Given the description of an element on the screen output the (x, y) to click on. 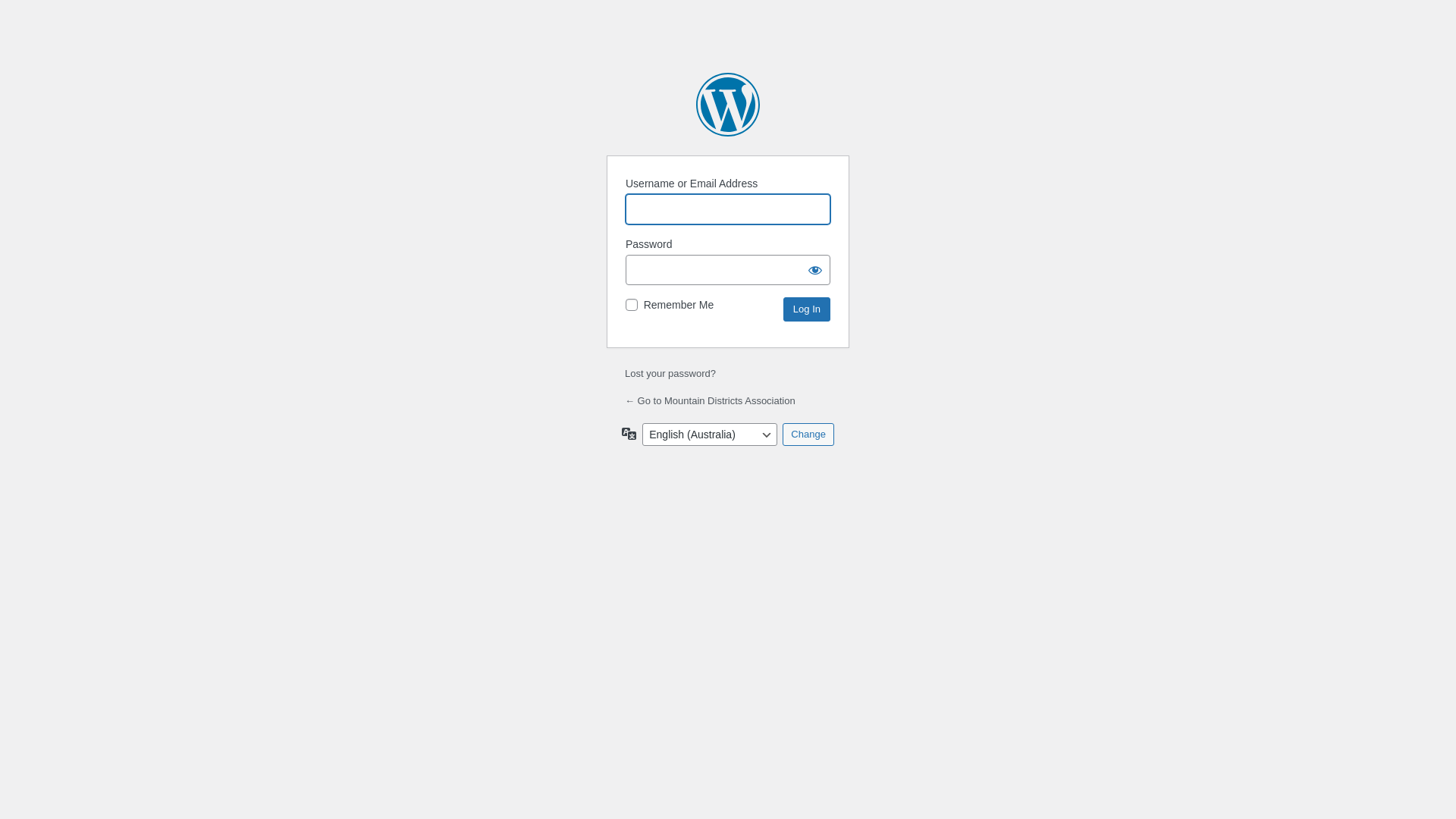
Change Element type: text (808, 434)
Powered by WordPress Element type: text (727, 104)
Lost your password? Element type: text (669, 373)
Log In Element type: text (806, 309)
